Given the description of an element on the screen output the (x, y) to click on. 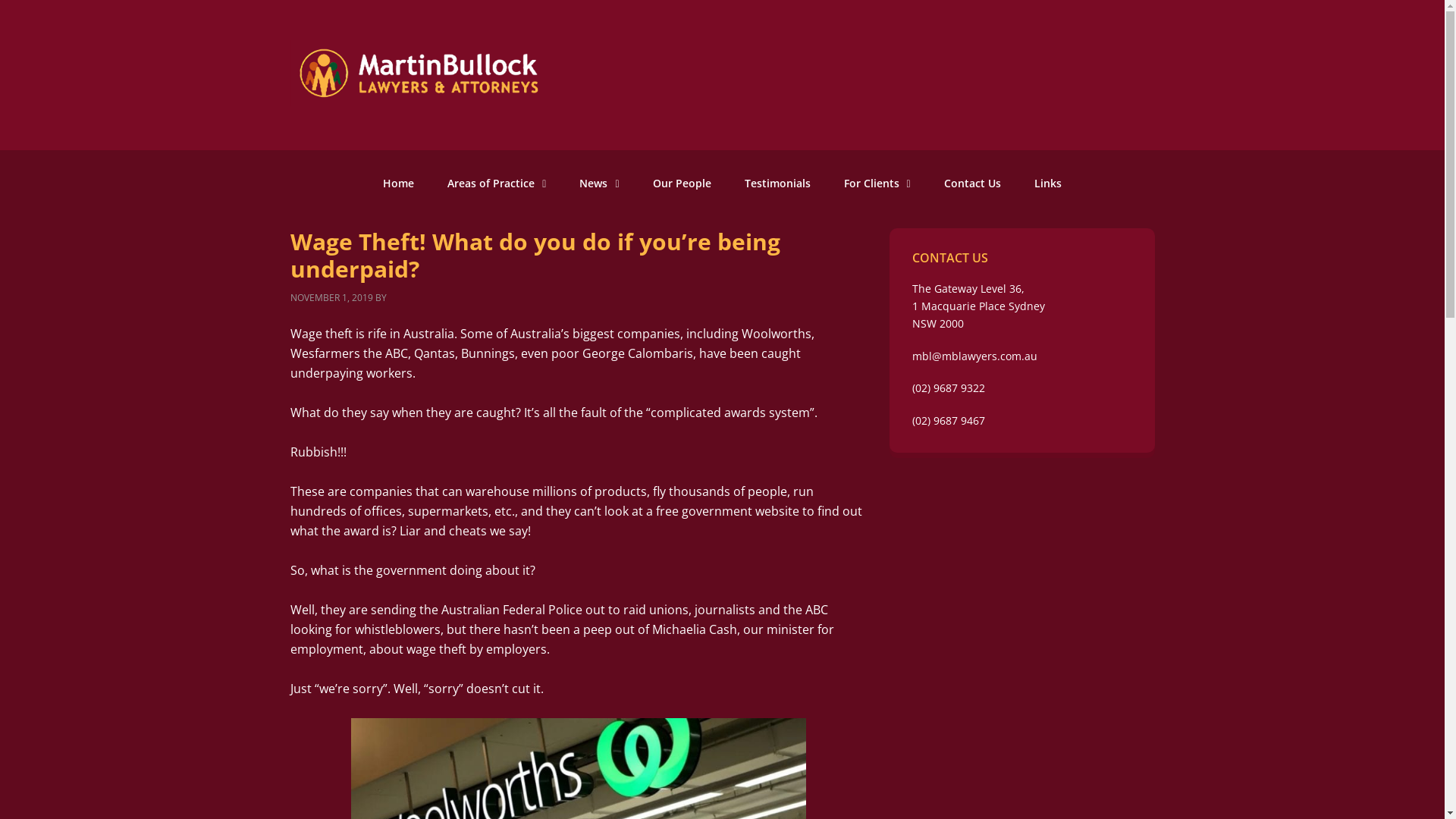
Testimonials Element type: text (777, 182)
Areas of Practice Element type: text (496, 183)
Our People Element type: text (681, 182)
mbl@mblawyers.com.au Element type: text (973, 355)
For Clients Element type: text (876, 183)
Home Element type: text (398, 182)
News Element type: text (598, 183)
(02) 9687 9322 Element type: text (947, 387)
Links Element type: text (1047, 182)
Contact Us Element type: text (972, 182)
Martin Bullock Lawyers Element type: hover (418, 94)
